Given the description of an element on the screen output the (x, y) to click on. 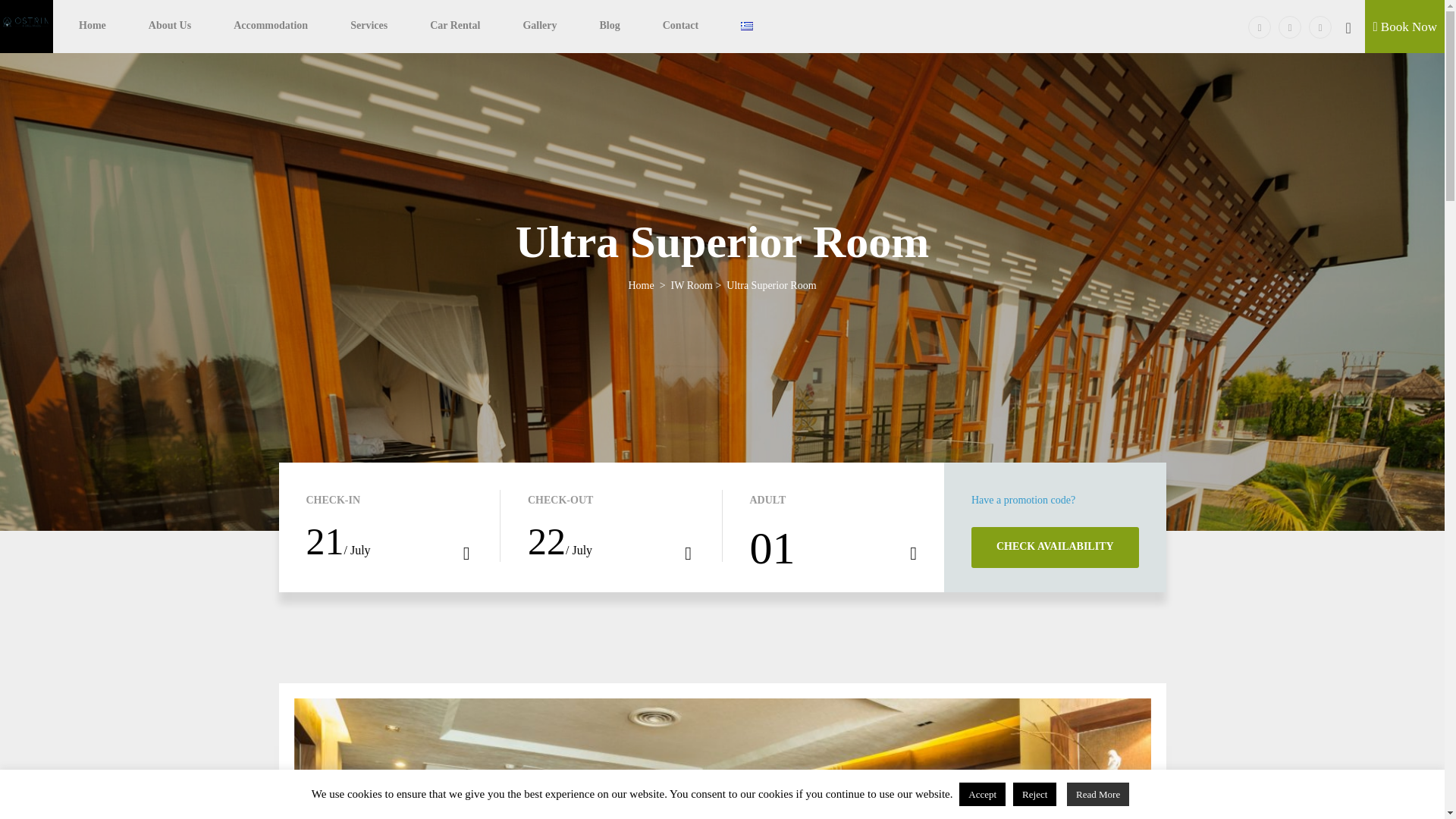
01 (833, 548)
